Given the description of an element on the screen output the (x, y) to click on. 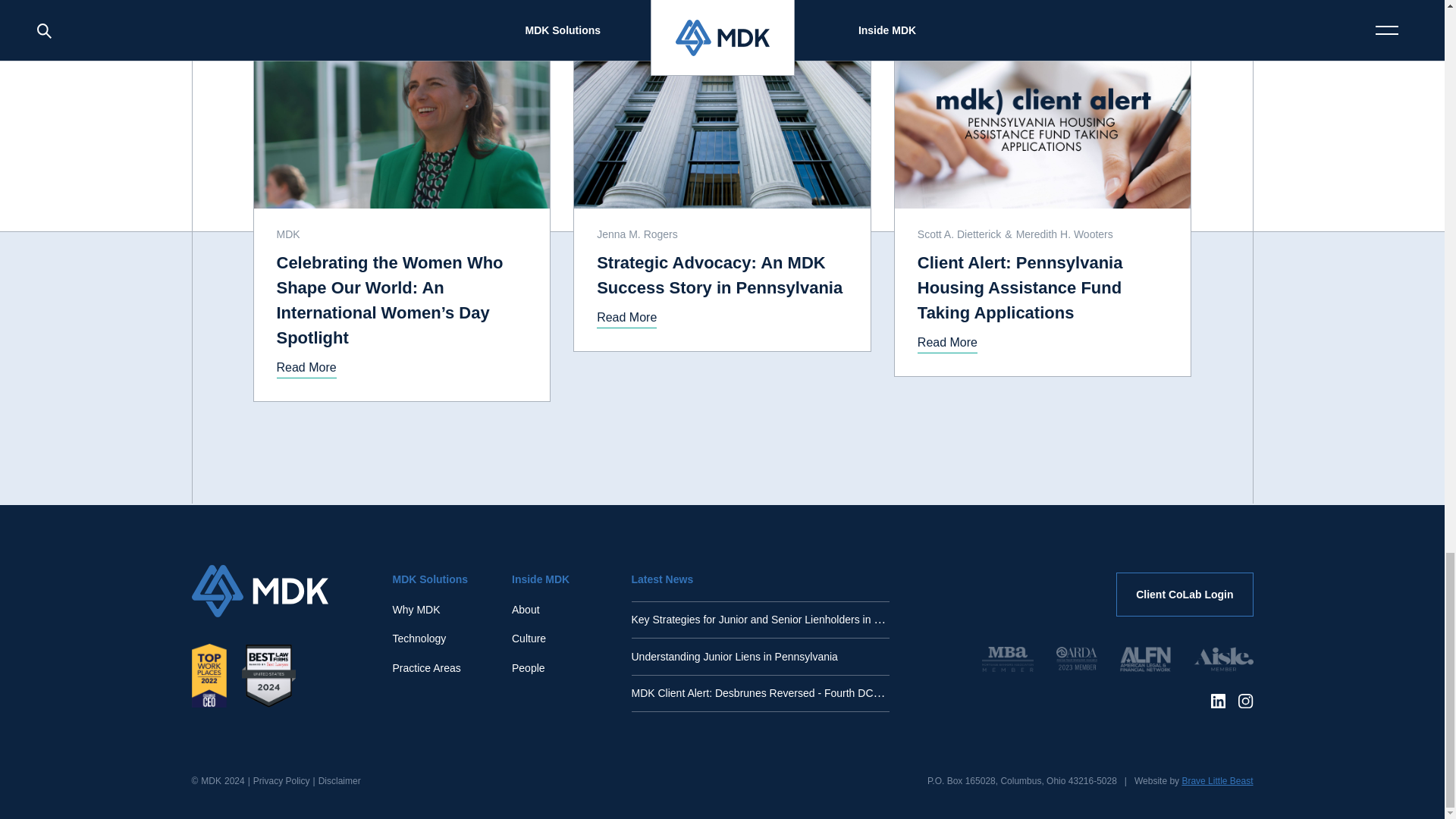
Jenna M. Rogers (638, 234)
Read More (306, 367)
MDK (289, 234)
Strategic Advocacy: An MDK Success Story in Pennsylvania (721, 274)
Why MDK (417, 609)
Technology (419, 638)
Read More (946, 342)
Read More (626, 317)
